Given the description of an element on the screen output the (x, y) to click on. 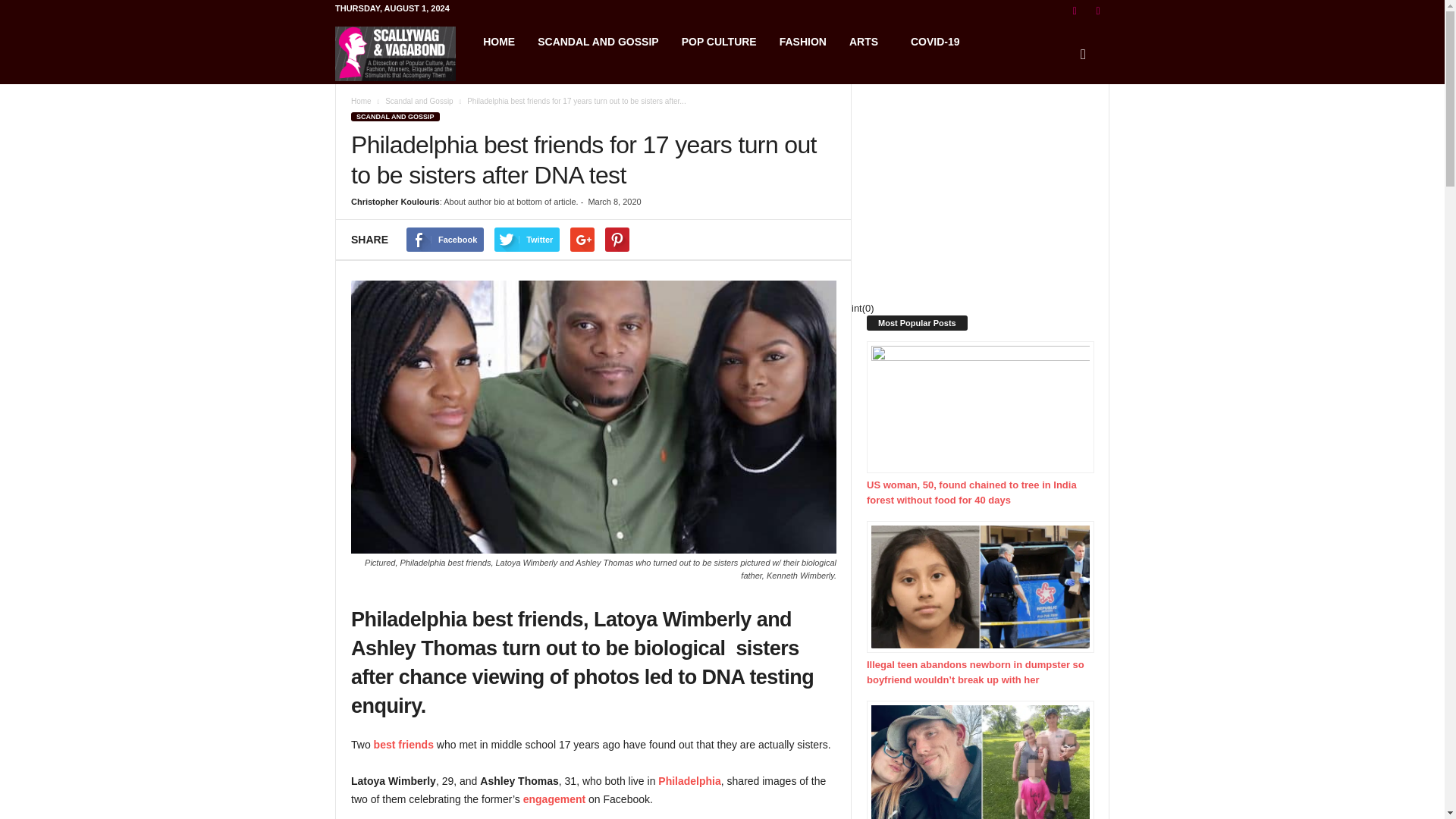
Iowa 4 year old parents kept retarded boy in makeshift cage (980, 760)
Christopher Koulouris (394, 201)
POP CULTURE (718, 41)
HOME (498, 41)
COVID-19 (935, 41)
SCANDAL AND GOSSIP (597, 41)
SCANDAL AND GOSSIP (394, 116)
Scandal and Gossip (418, 101)
engagement (553, 799)
Scallywag and Vagabond (402, 52)
best friends (403, 744)
FASHION (803, 41)
Philadelphia (689, 780)
Home (360, 101)
